Given the description of an element on the screen output the (x, y) to click on. 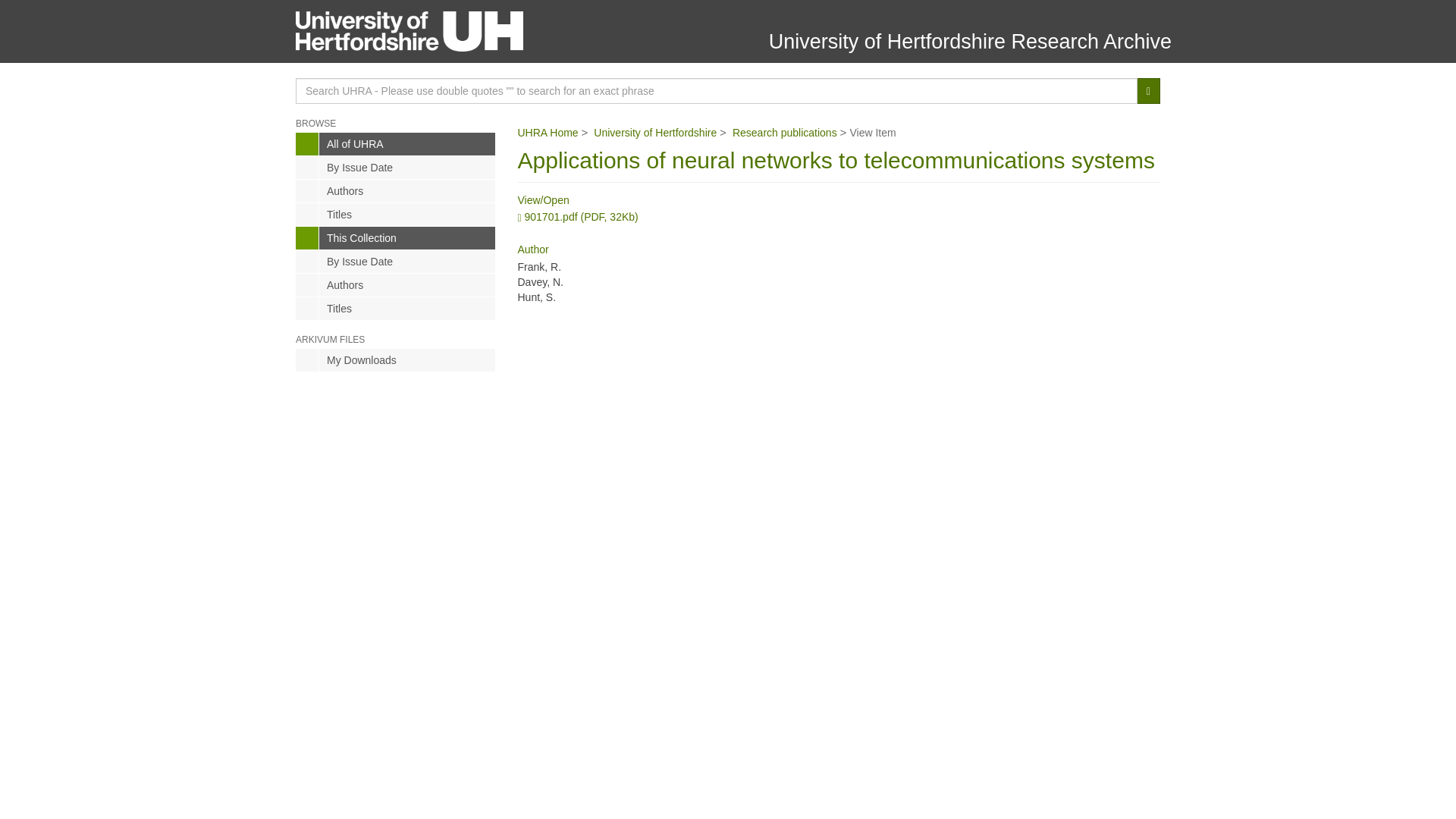
All of UHRA (395, 143)
UHRA Home (547, 132)
Authors (395, 190)
Go (1148, 90)
This Collection (395, 237)
Titles (395, 308)
Authors (395, 284)
Titles (395, 214)
Research publications (784, 132)
University of Hertfordshire (655, 132)
